Given the description of an element on the screen output the (x, y) to click on. 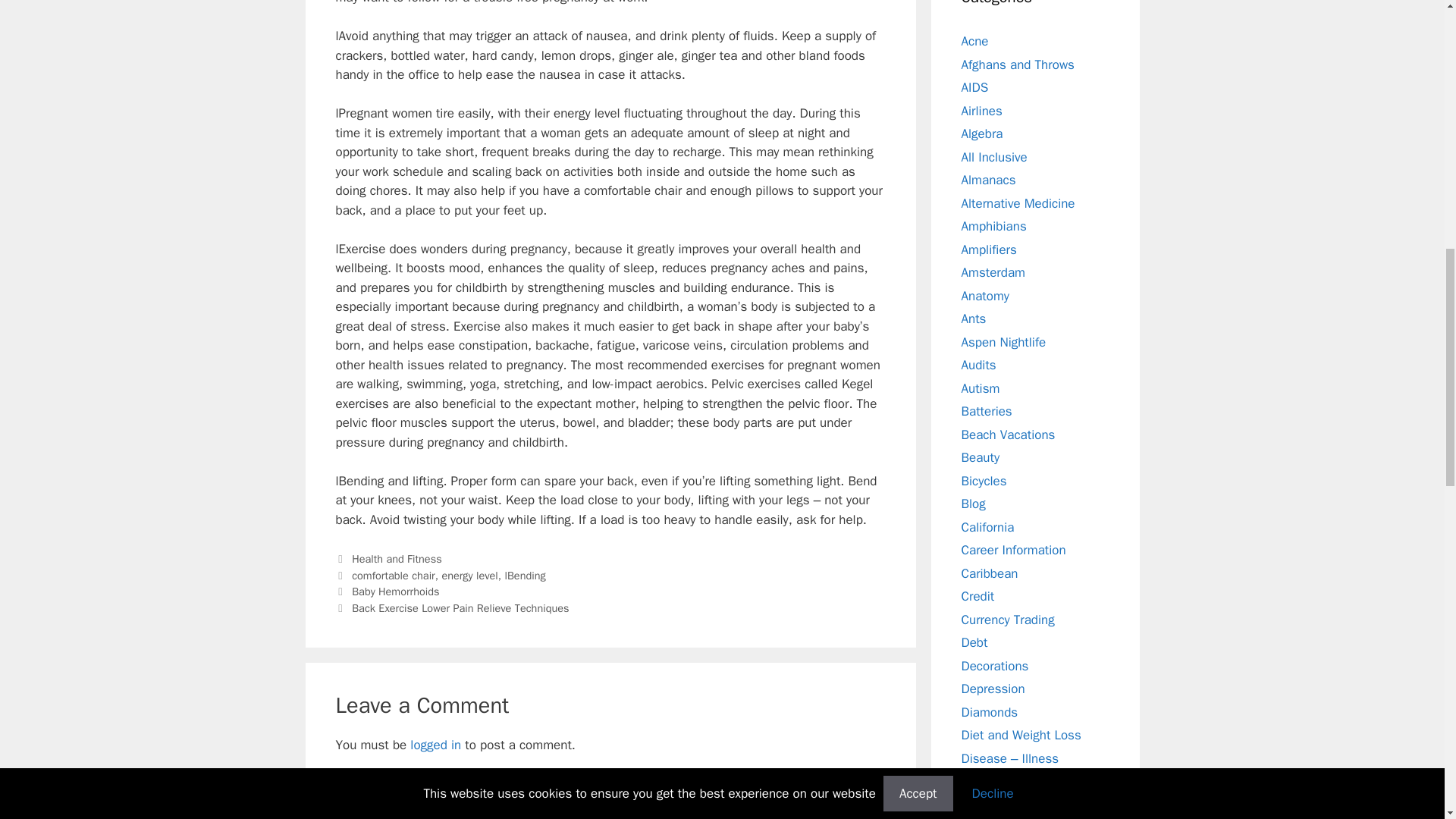
Amplifiers (988, 248)
Algebra (981, 133)
AIDS (974, 87)
Amsterdam (993, 272)
Afghans and Throws (1017, 64)
Acne (974, 41)
Alternative Medicine (1017, 203)
Amphibians (993, 226)
lBending (523, 575)
Almanacs (988, 179)
comfortable chair (393, 575)
energy level (469, 575)
Back Exercise Lower Pain Relieve Techniques (460, 608)
logged in (435, 744)
Airlines (981, 110)
